Given the description of an element on the screen output the (x, y) to click on. 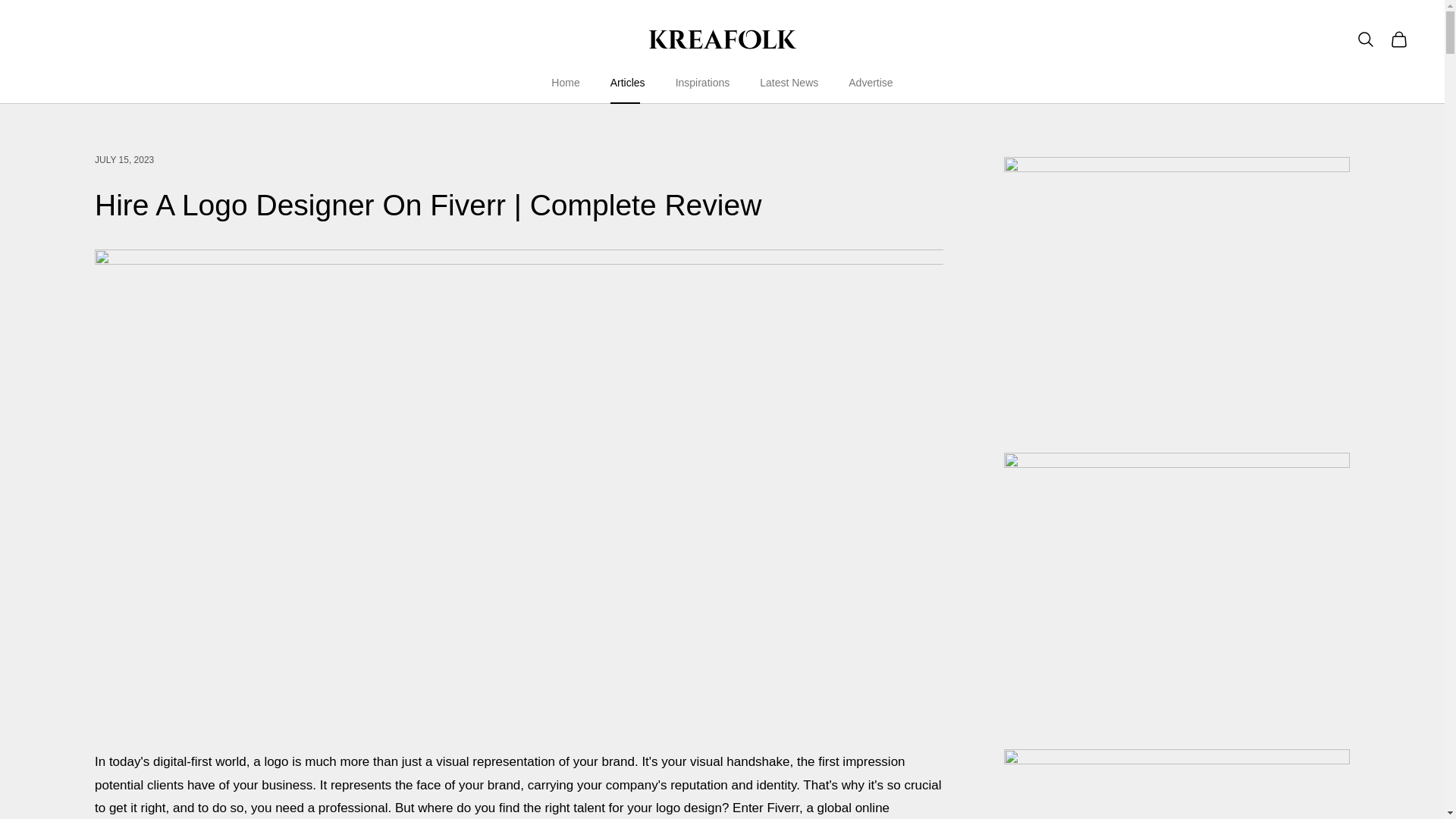
Latest News (789, 83)
Advertise (870, 83)
Open cart (1398, 39)
Home (565, 83)
Articles (627, 83)
Open search (1365, 39)
Kreafolk (721, 38)
Inspirations (702, 83)
